Given the description of an element on the screen output the (x, y) to click on. 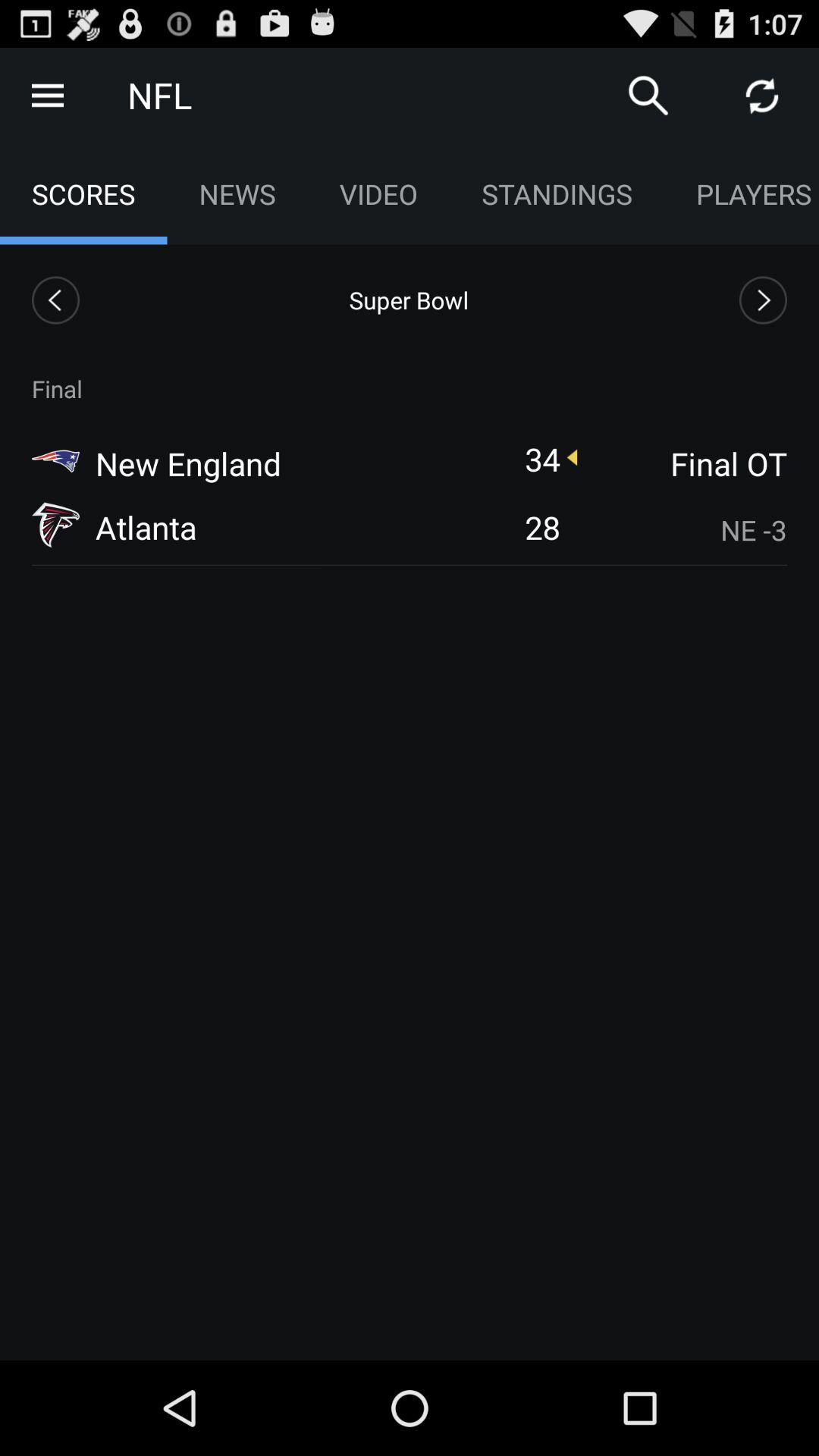
press the item below 34 app (542, 526)
